Given the description of an element on the screen output the (x, y) to click on. 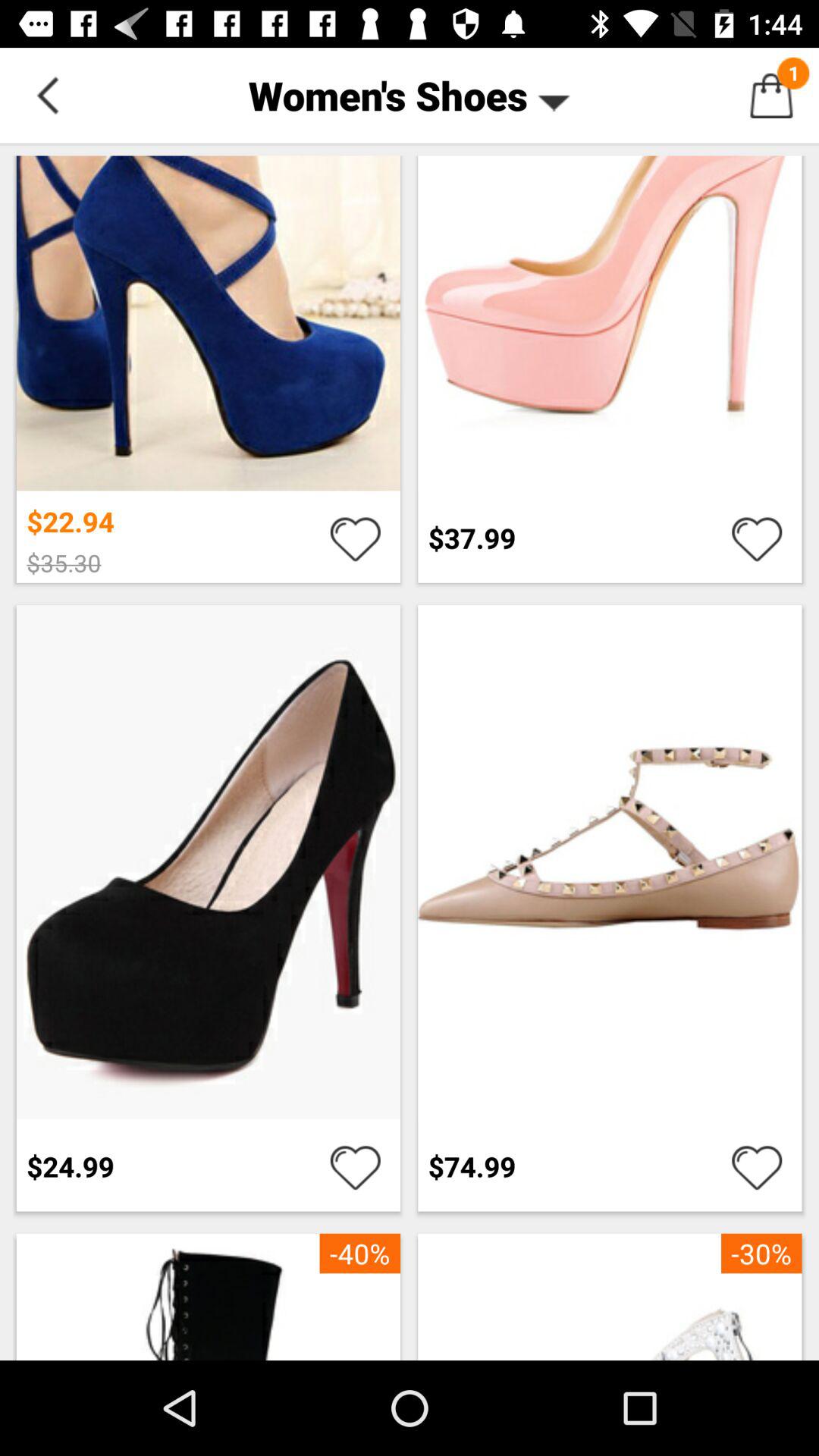
go back (47, 95)
